Given the description of an element on the screen output the (x, y) to click on. 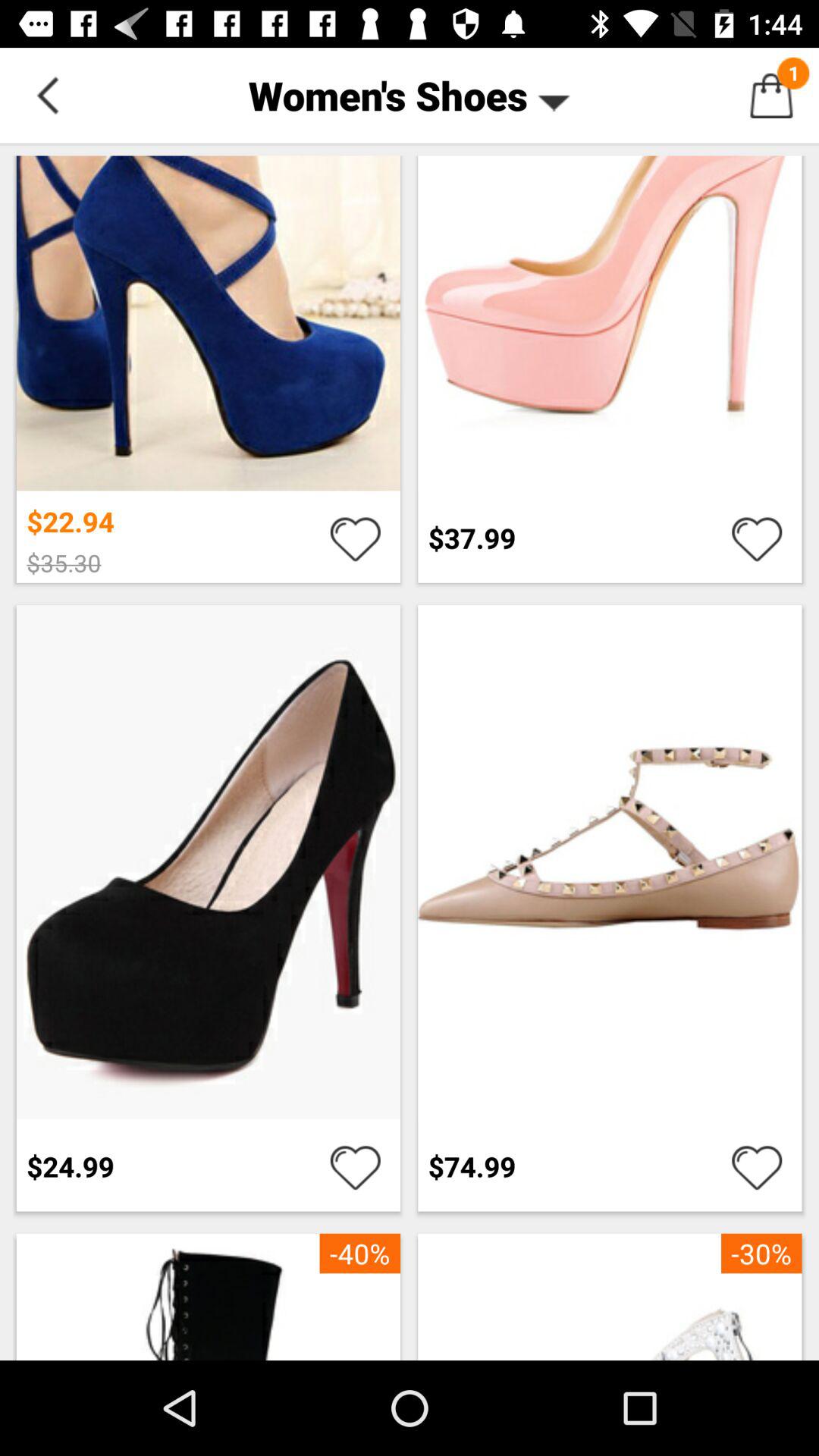
go back (47, 95)
